Given the description of an element on the screen output the (x, y) to click on. 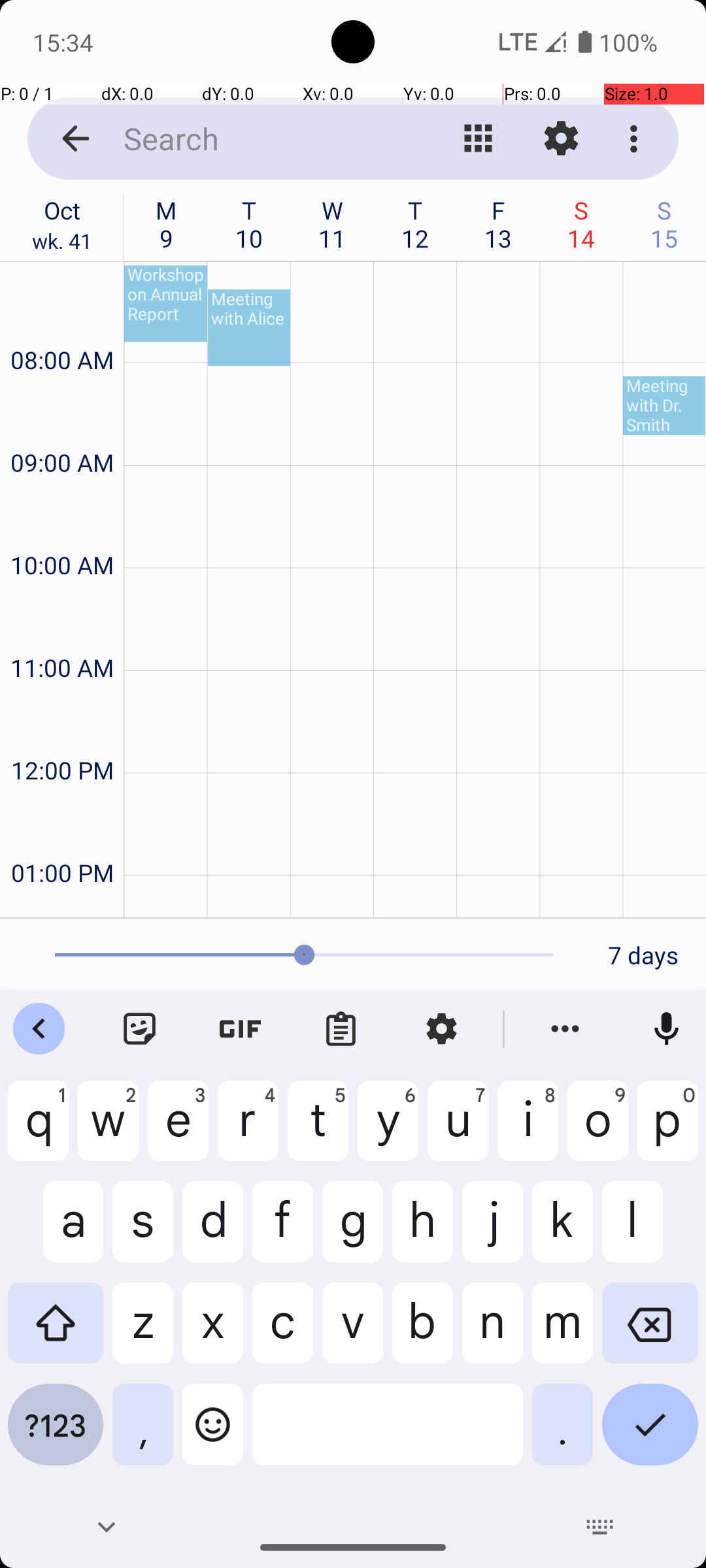
08:00 AM Element type: android.widget.TextView (62, 324)
09:00 AM Element type: android.widget.TextView (62, 427)
10:00 AM Element type: android.widget.TextView (62, 529)
11:00 AM Element type: android.widget.TextView (62, 632)
12:00 PM Element type: android.widget.TextView (62, 735)
01:00 PM Element type: android.widget.TextView (62, 837)
02:00 PM Element type: android.widget.TextView (62, 903)
Meeting with Alice Element type: android.widget.TextView (248, 327)
